Given the description of an element on the screen output the (x, y) to click on. 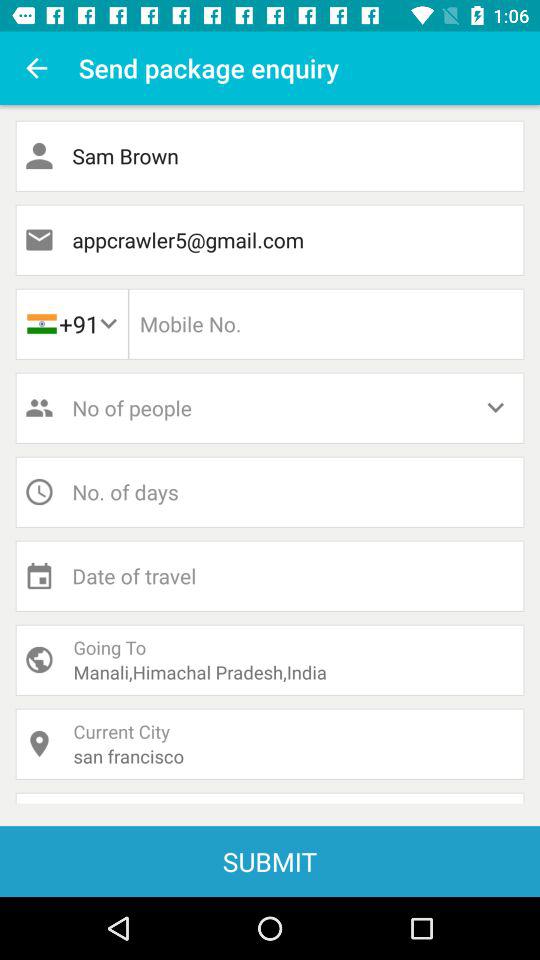
click app next to the send package enquiry icon (36, 68)
